Given the description of an element on the screen output the (x, y) to click on. 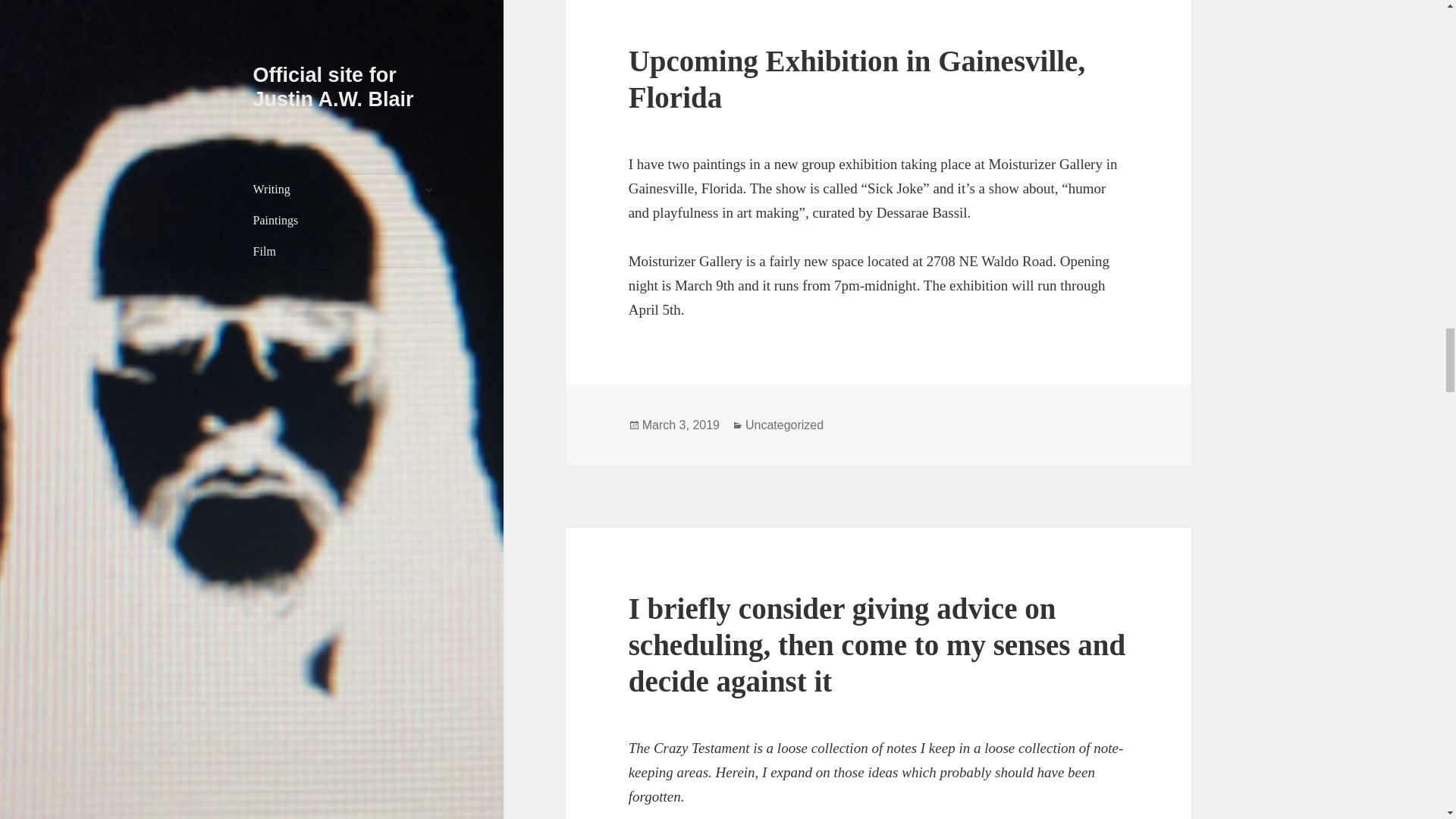
Upcoming Exhibition in Gainesville, Florida (856, 79)
March 3, 2019 (680, 425)
Uncategorized (784, 425)
